Given the description of an element on the screen output the (x, y) to click on. 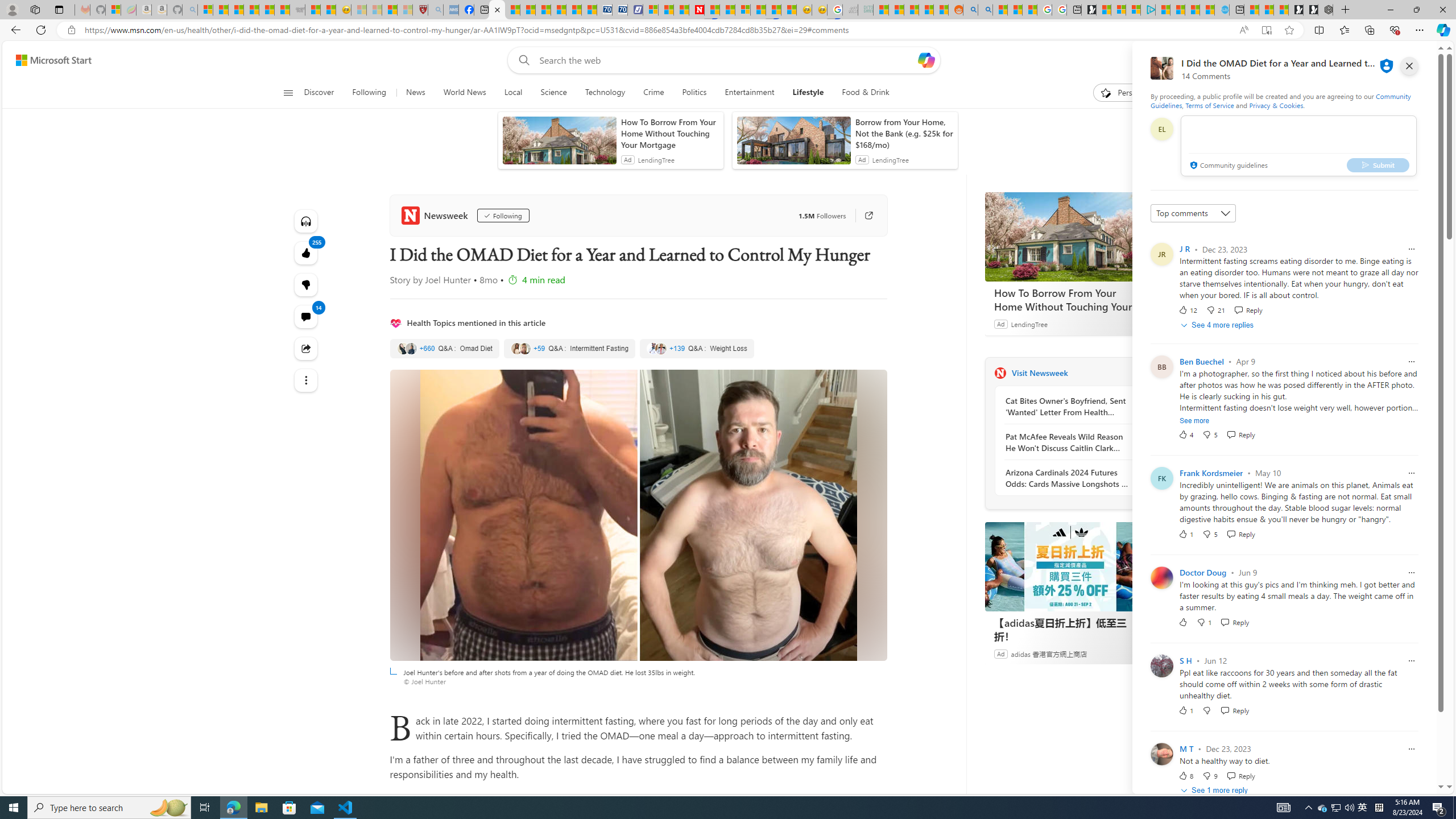
Visit Newsweek website (1140, 372)
1 Like (1185, 709)
255 Like (305, 252)
M T (1186, 748)
Student Loan Update: Forgiveness Program Ends This Month (926, 9)
